Given the description of an element on the screen output the (x, y) to click on. 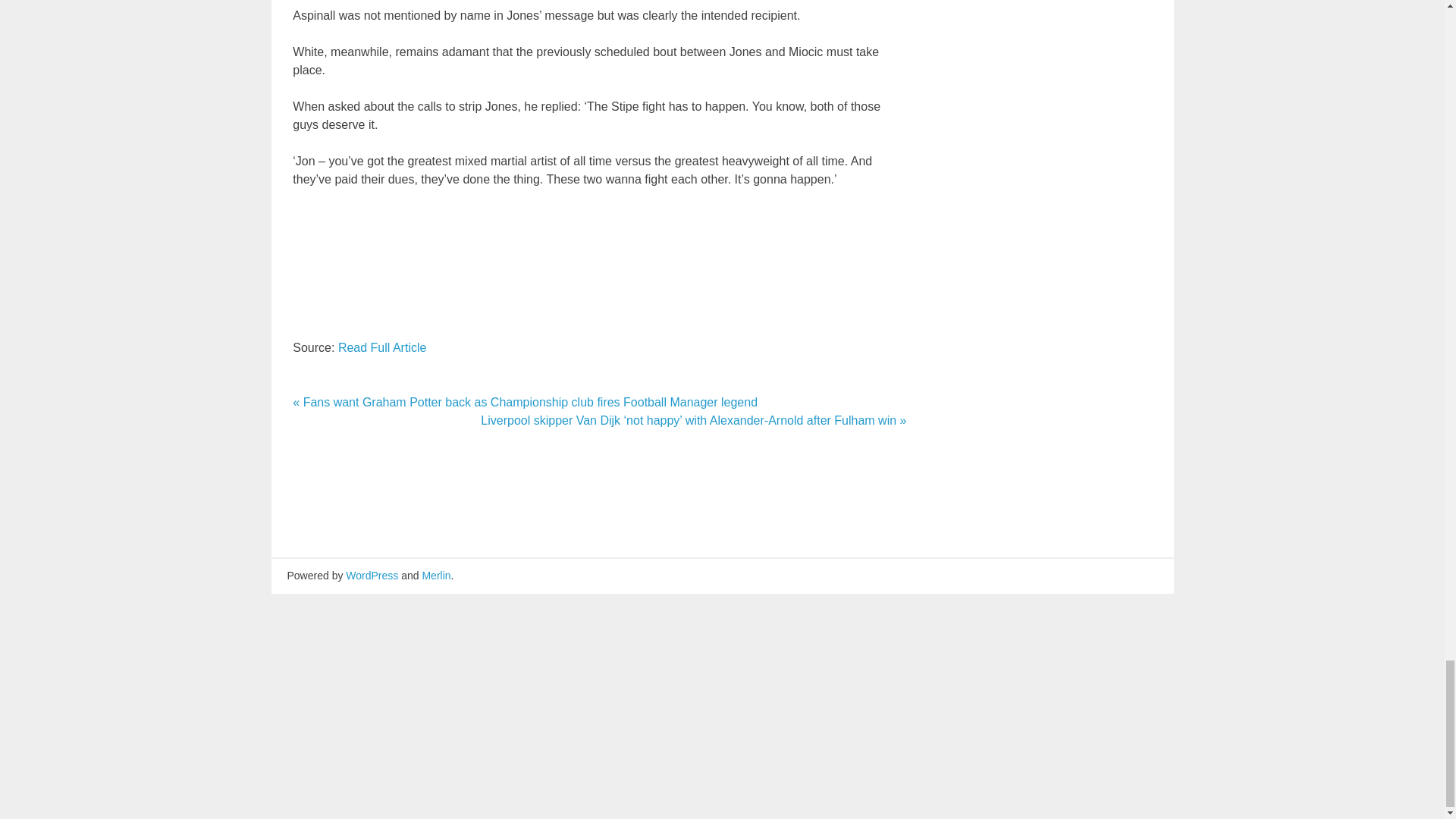
WordPress (371, 575)
Merlin WordPress Theme (435, 575)
Read Full Article (381, 347)
